Given the description of an element on the screen output the (x, y) to click on. 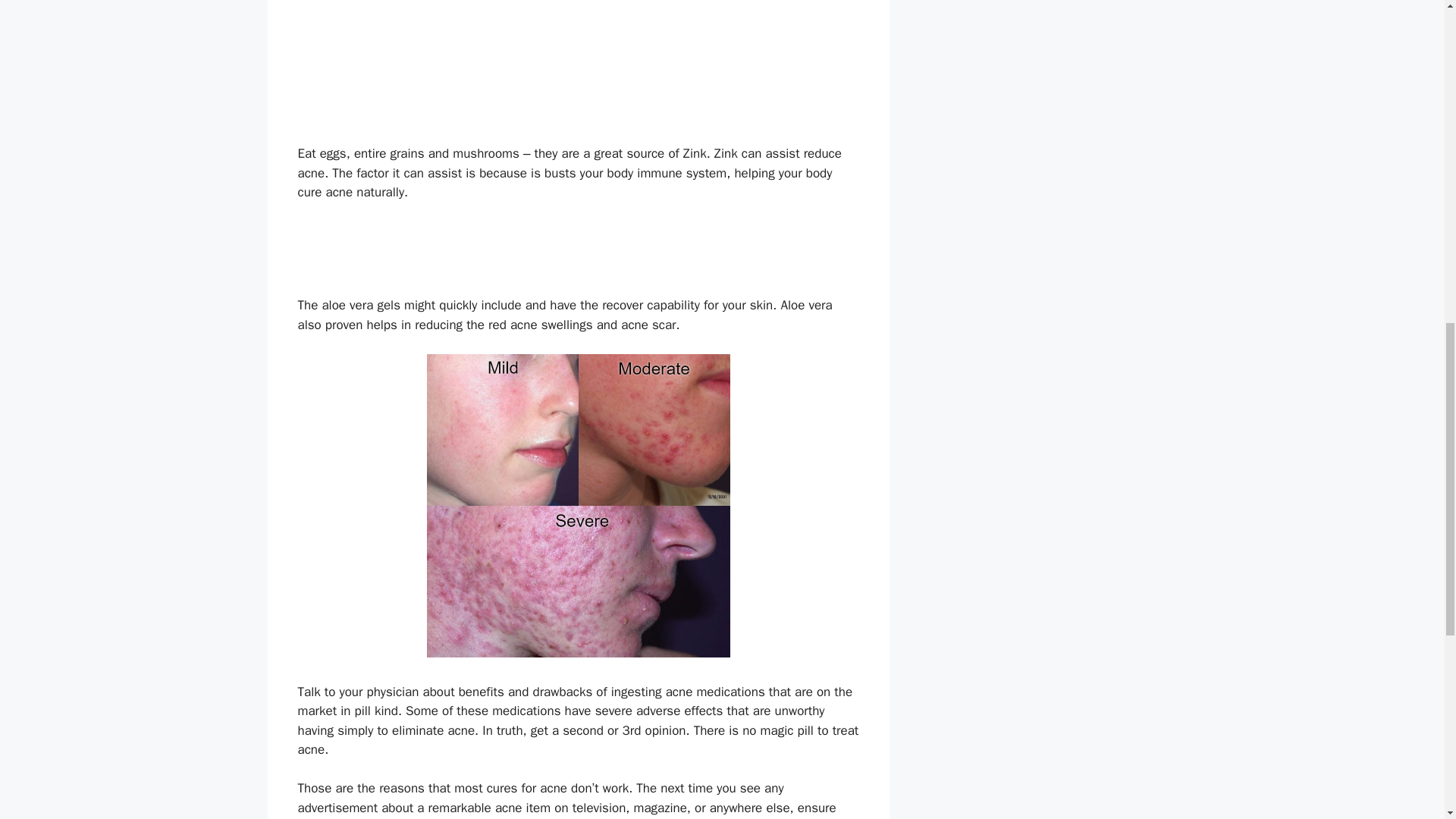
Advertisement (577, 255)
